Given the description of an element on the screen output the (x, y) to click on. 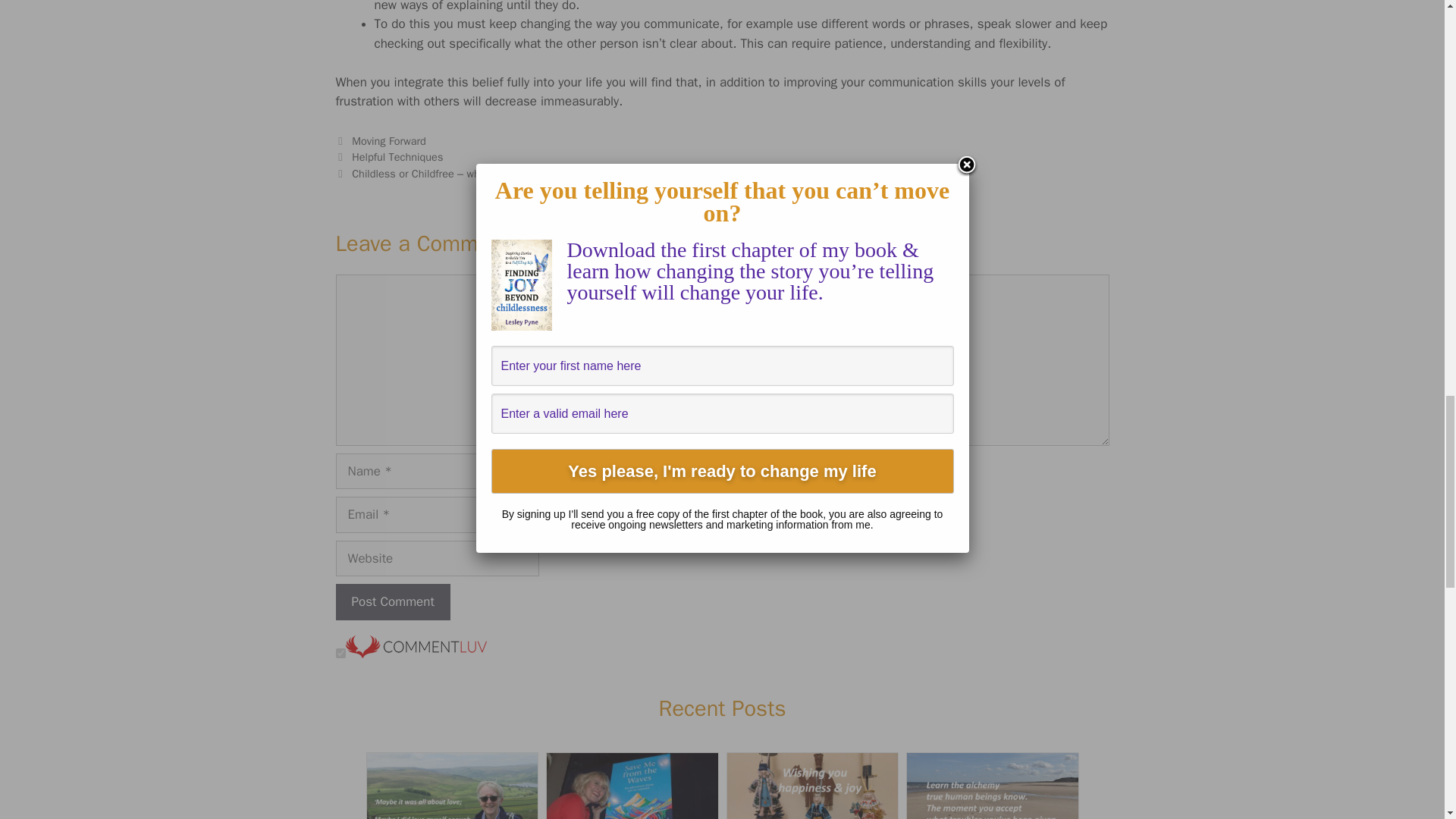
Moving Forward (389, 141)
Helpful Techniques (397, 156)
on (339, 653)
Post Comment (391, 601)
Post Comment (391, 601)
